Given the description of an element on the screen output the (x, y) to click on. 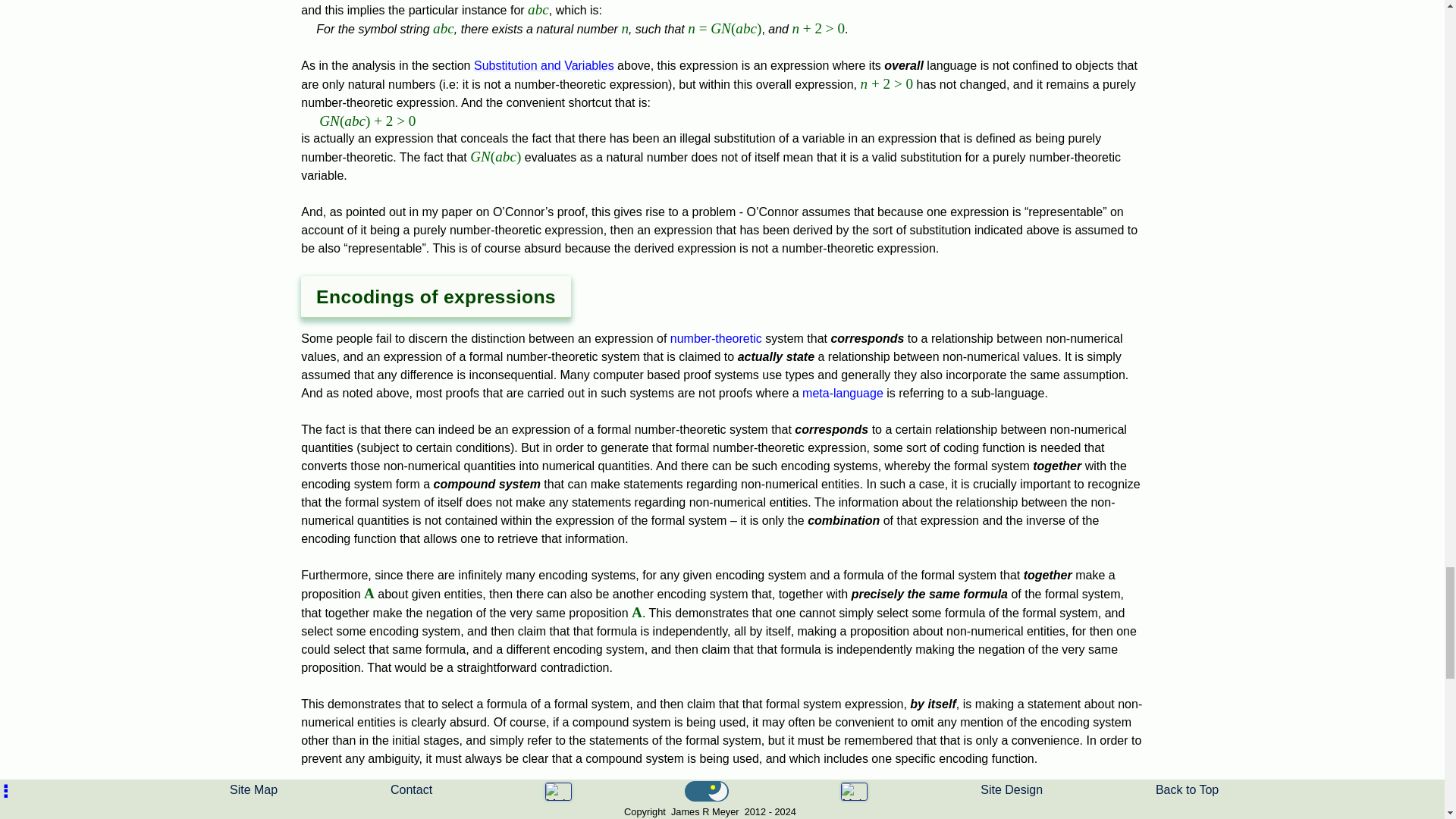
number-theoretic (715, 338)
Substitution and Variables (544, 65)
meta-language (842, 392)
